Given the description of an element on the screen output the (x, y) to click on. 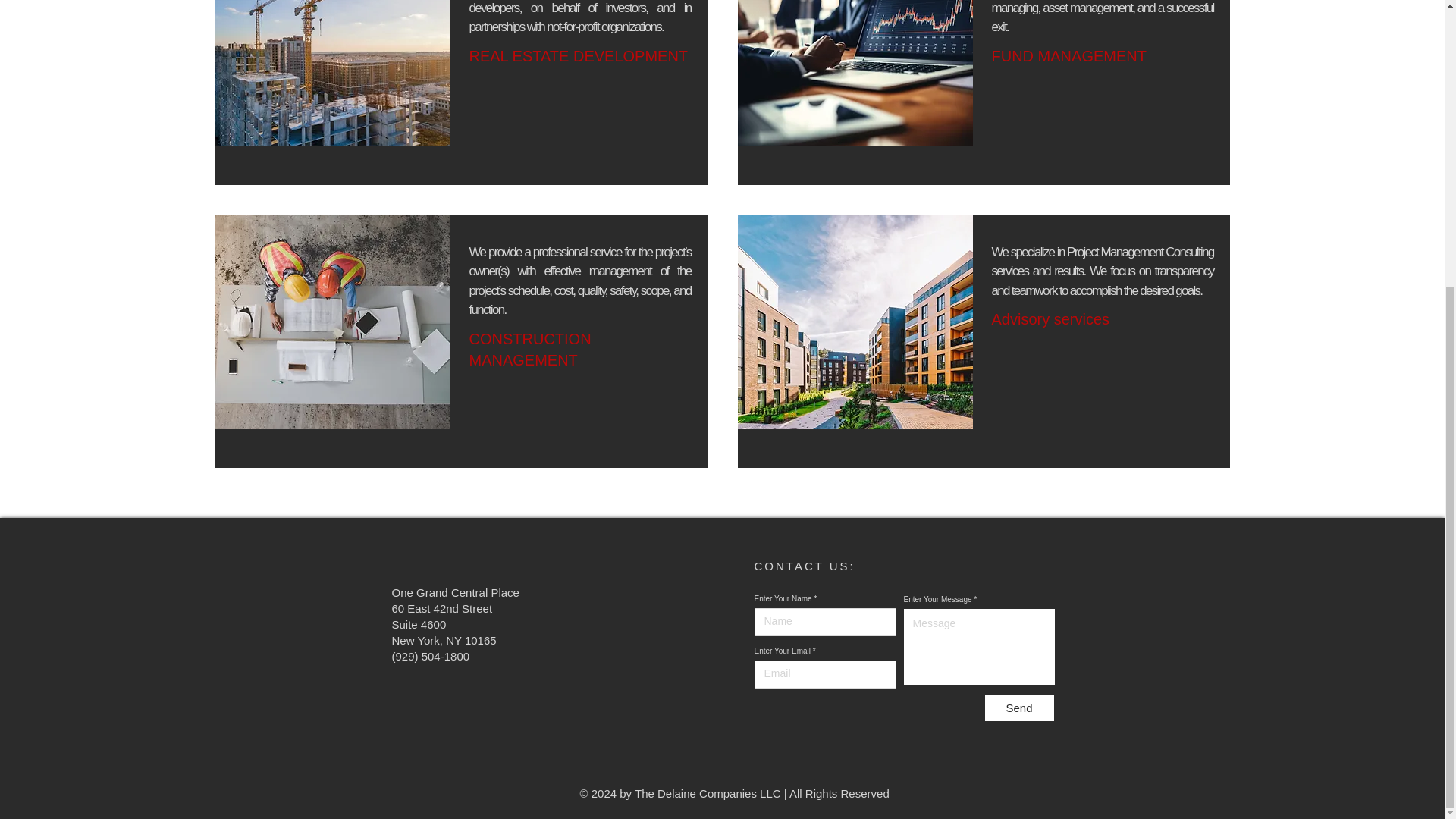
Send (1019, 707)
